Given the description of an element on the screen output the (x, y) to click on. 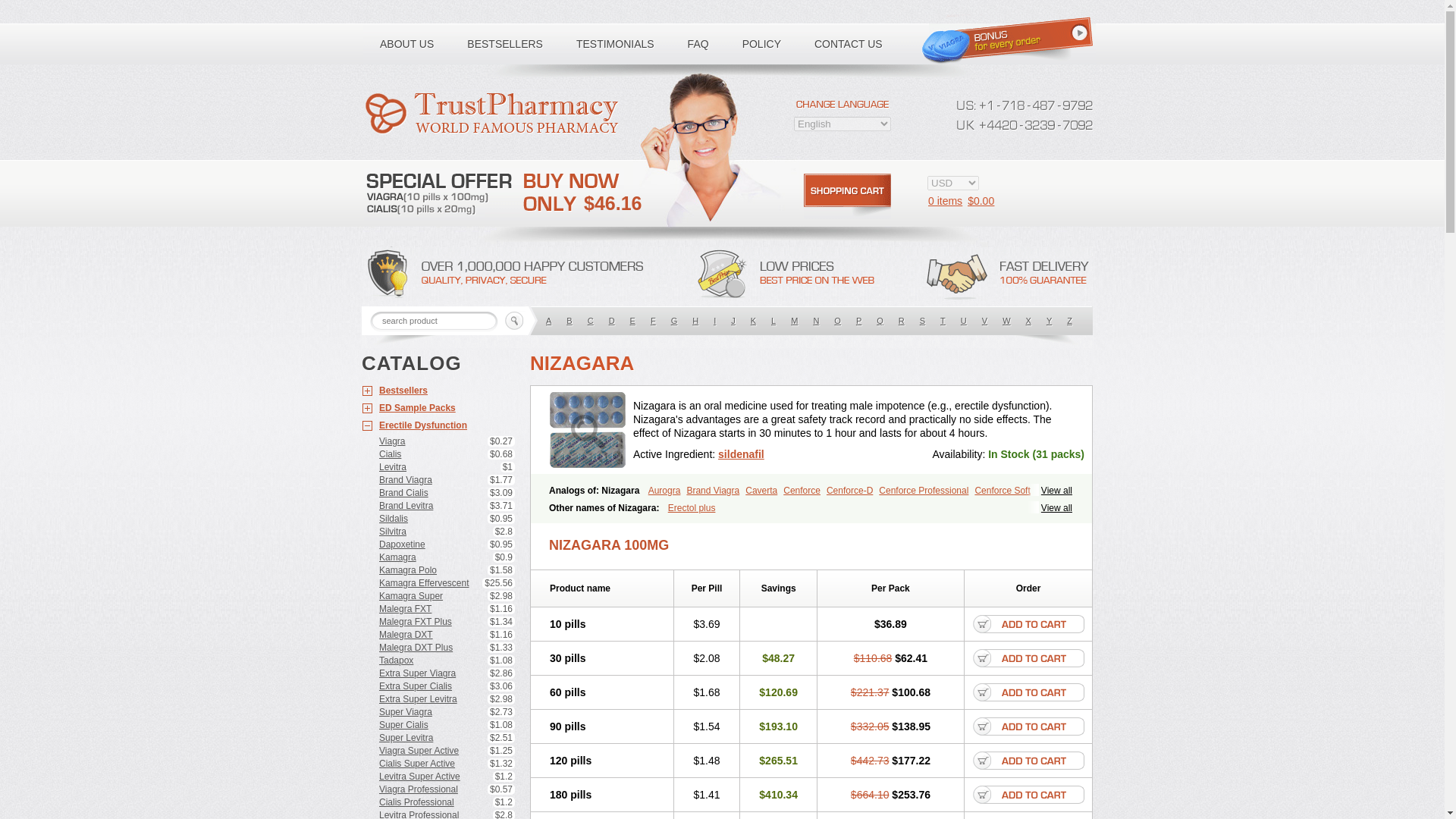
POLICY (761, 43)
CONTACT US (848, 43)
Bestsellers (438, 390)
TESTIMONIALS (615, 43)
Nizagara (588, 429)
FAQ (698, 43)
ABOUT US (405, 43)
BESTSELLERS (504, 43)
